Given the description of an element on the screen output the (x, y) to click on. 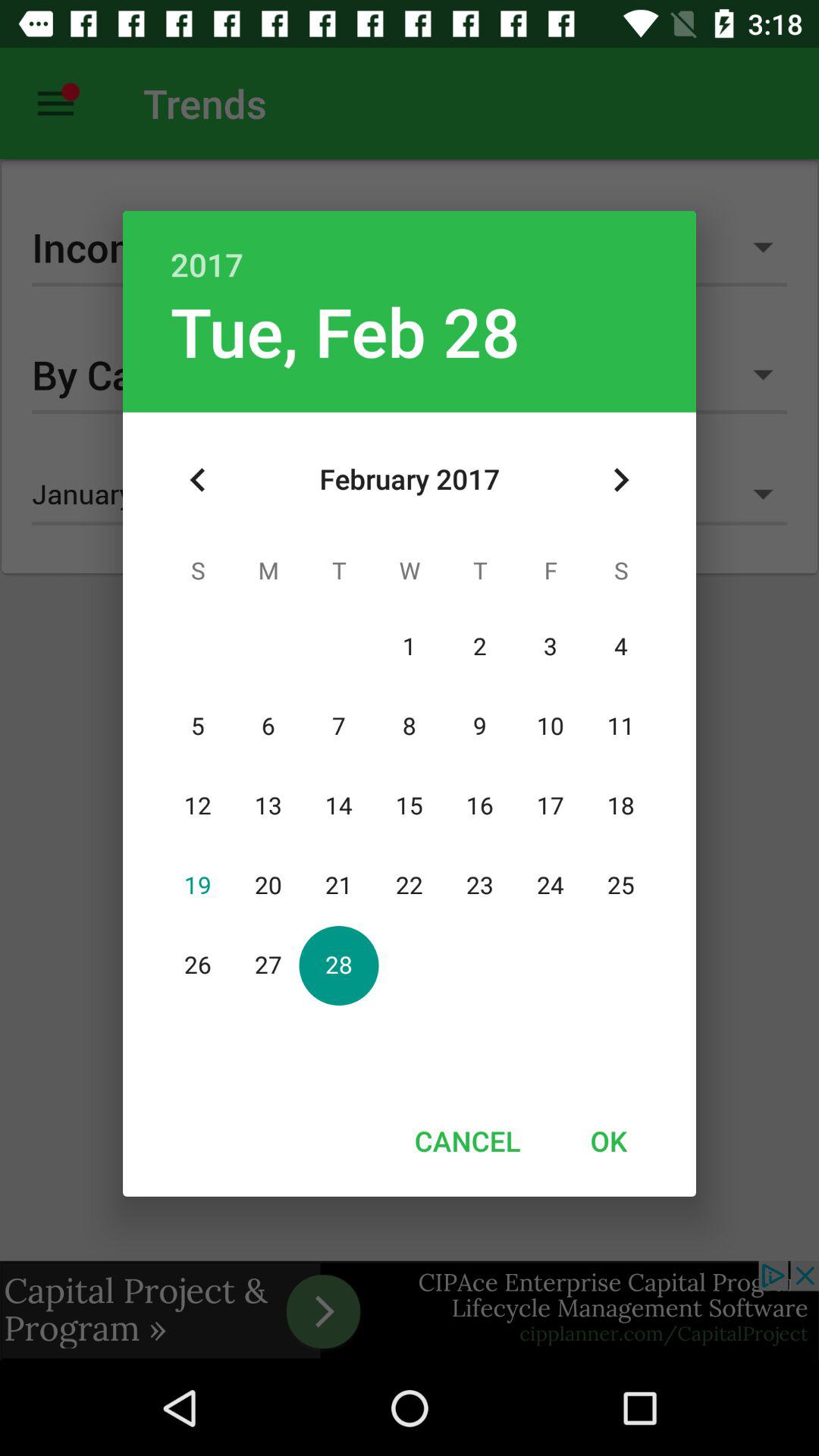
open the icon below 2017 (345, 331)
